Given the description of an element on the screen output the (x, y) to click on. 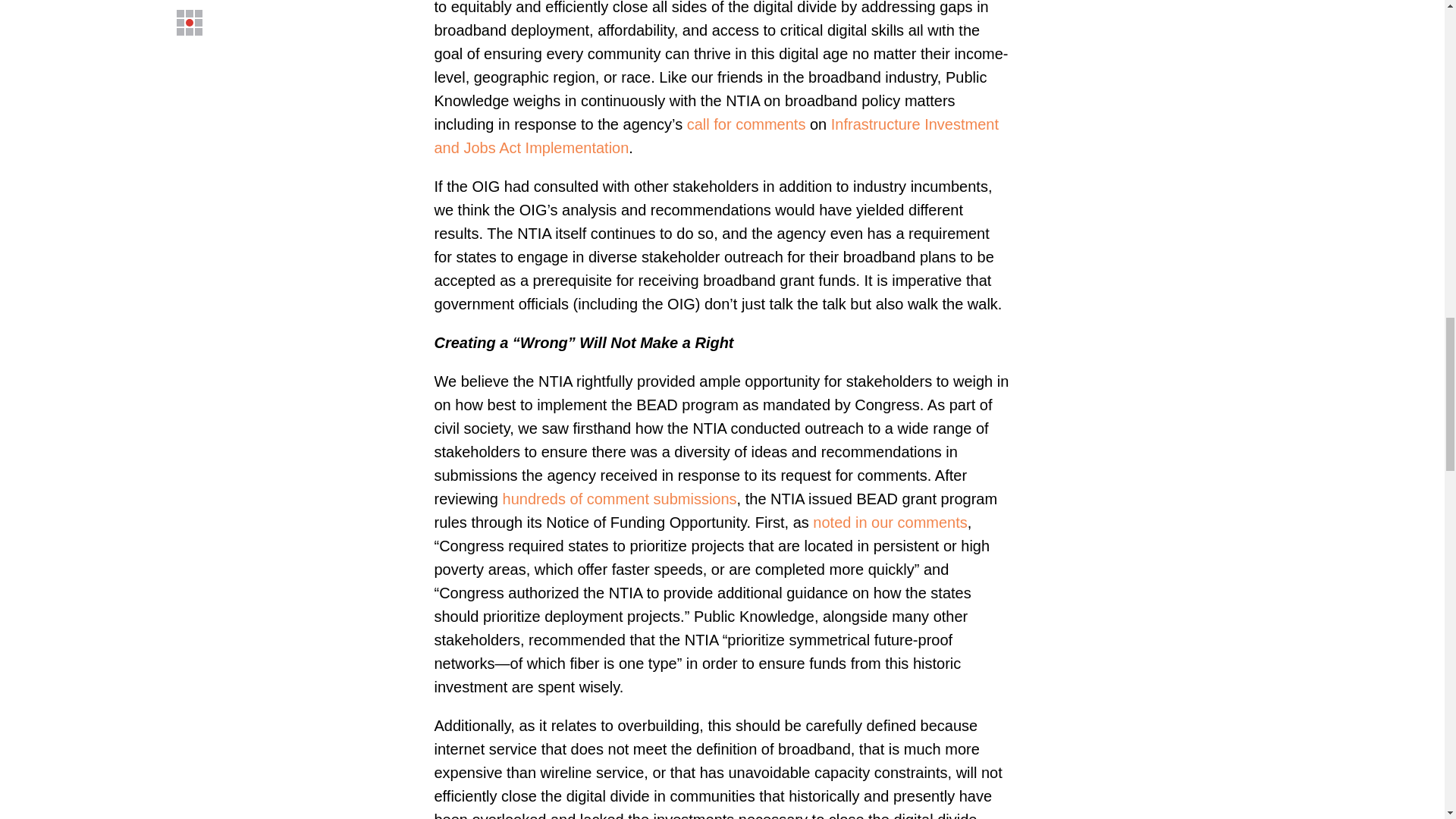
hundreds of comment submissions (619, 498)
call for comments (746, 124)
Infrastructure Investment and Jobs Act Implementation (715, 136)
noted in our comments (889, 522)
